Given the description of an element on the screen output the (x, y) to click on. 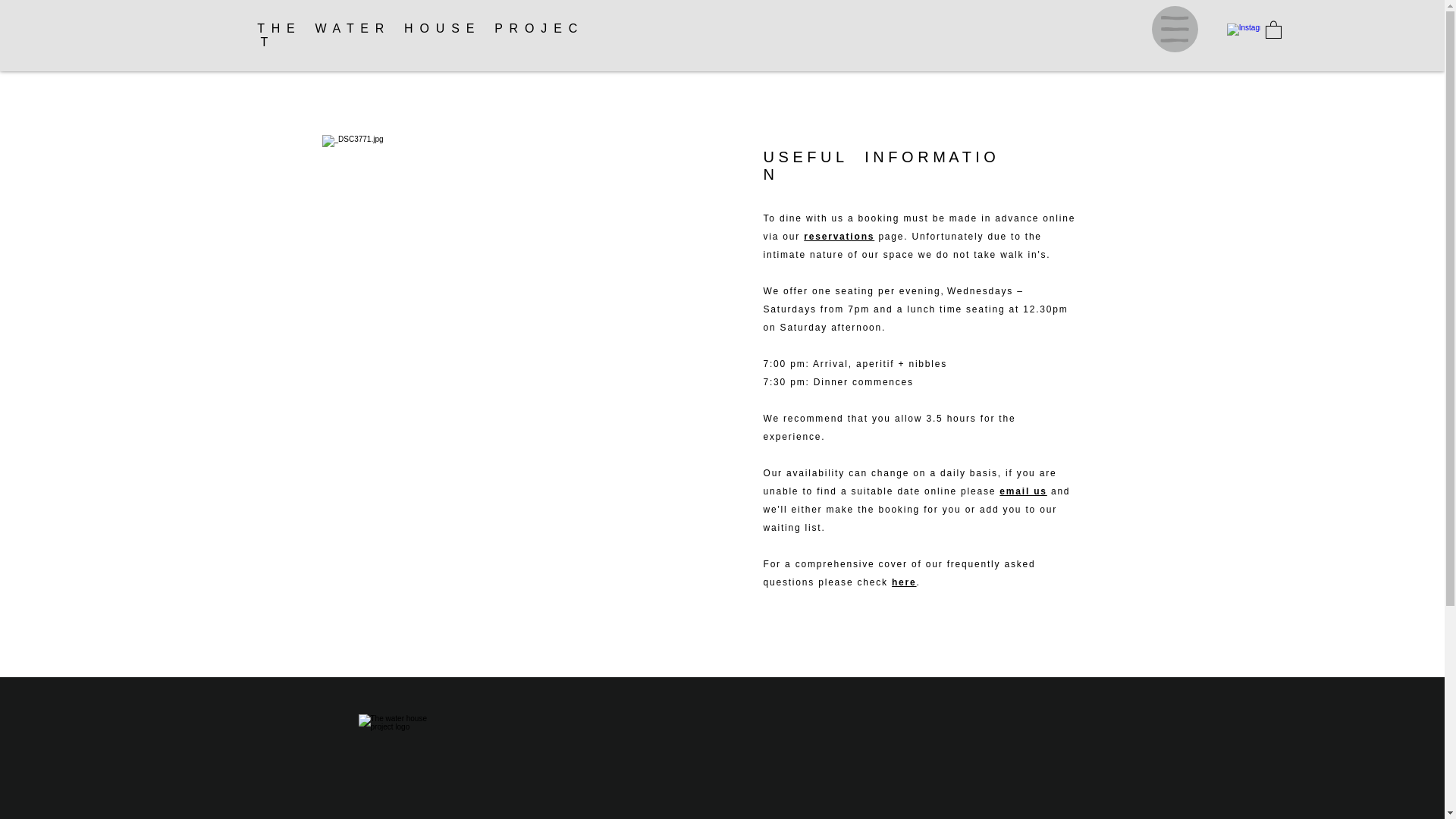
email us (1022, 491)
here (904, 582)
reservations (839, 235)
